Given the description of an element on the screen output the (x, y) to click on. 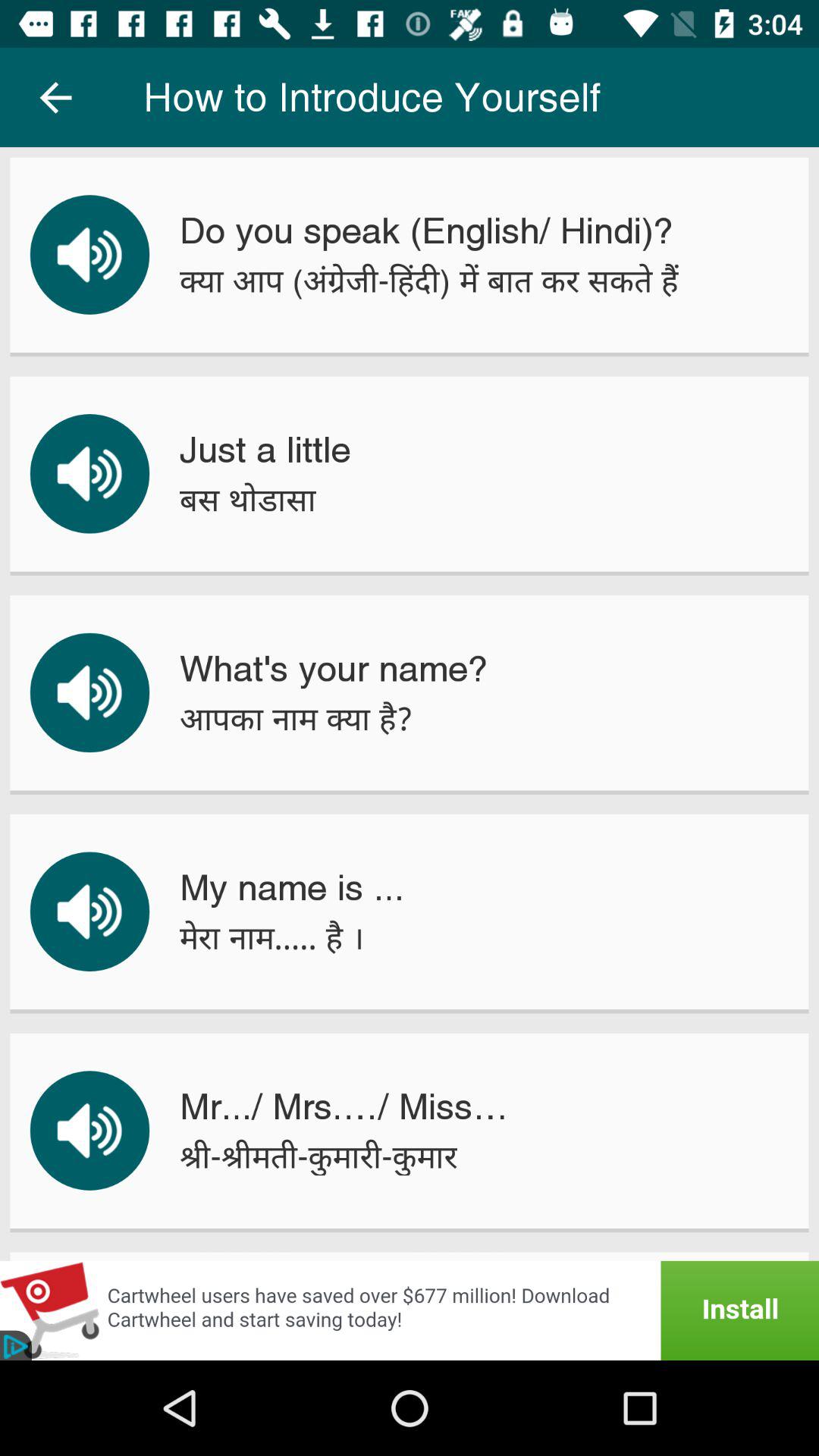
choose icon below do you speak item (428, 280)
